Given the description of an element on the screen output the (x, y) to click on. 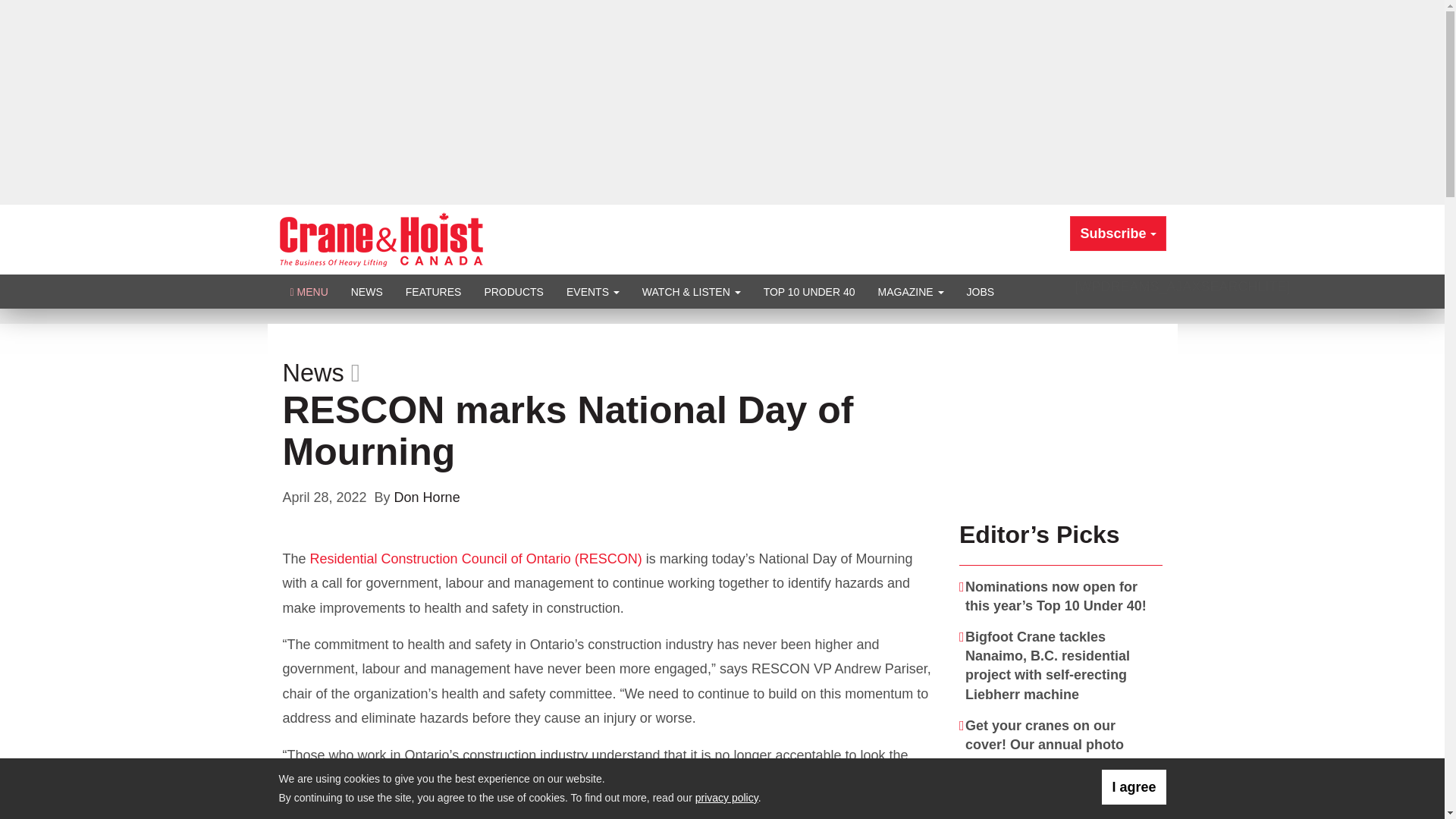
EVENTS (592, 291)
Crane and Hoist Canada (381, 238)
Subscribe (1118, 233)
PRODUCTS (512, 291)
MAGAZINE (910, 291)
JOBS (980, 291)
FEATURES (433, 291)
TOP 10 UNDER 40 (809, 291)
MENU (309, 291)
